Given the description of an element on the screen output the (x, y) to click on. 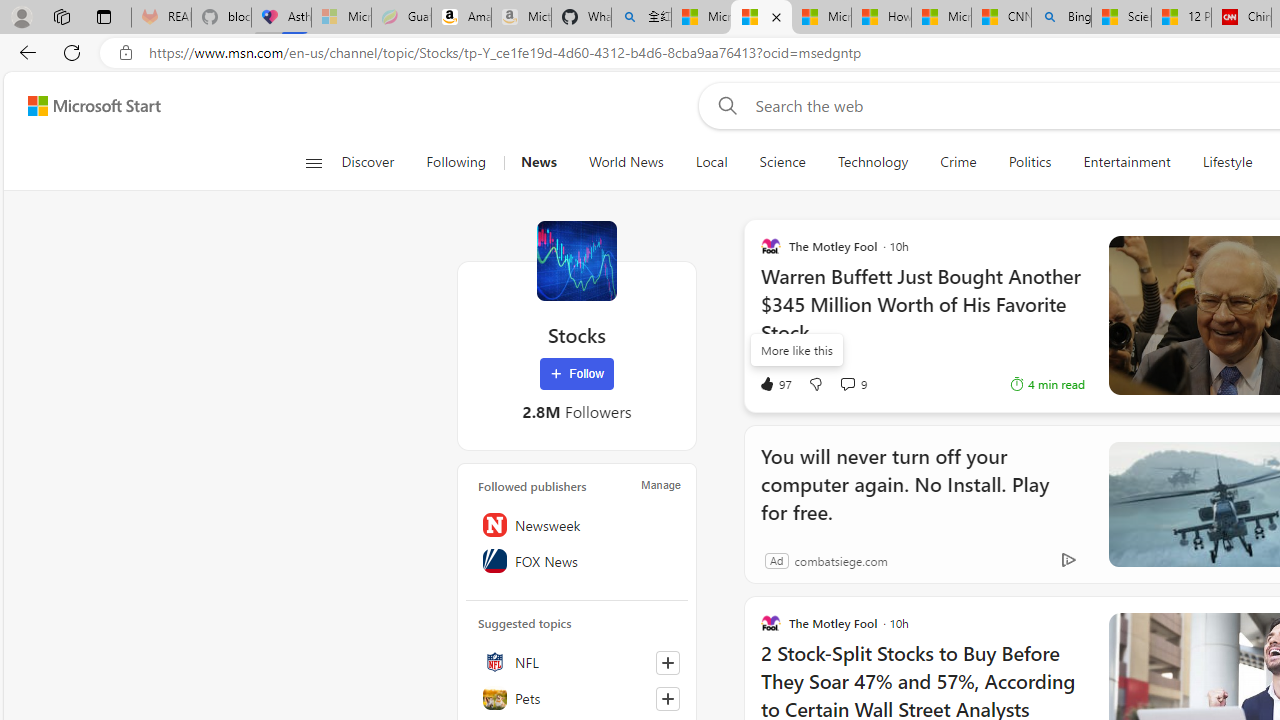
97 Like (775, 384)
View comments 9 Comment (852, 384)
